Given the description of an element on the screen output the (x, y) to click on. 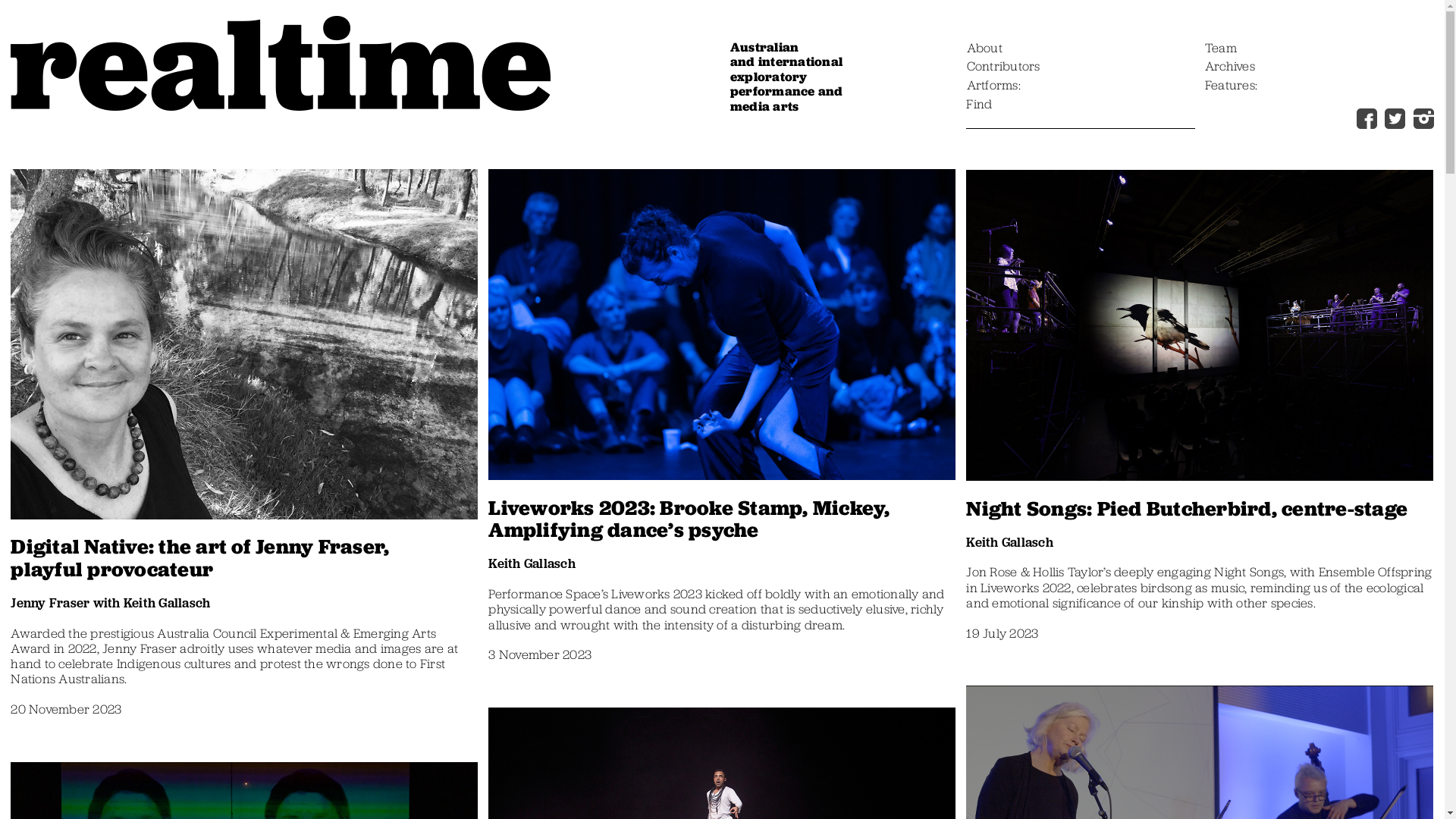
About Element type: text (984, 49)
Archives Element type: text (1229, 67)
Features Element type: text (1230, 86)
Team Element type: text (1220, 49)
Artforms Element type: text (993, 86)
Contributors Element type: text (1003, 67)
